Given the description of an element on the screen output the (x, y) to click on. 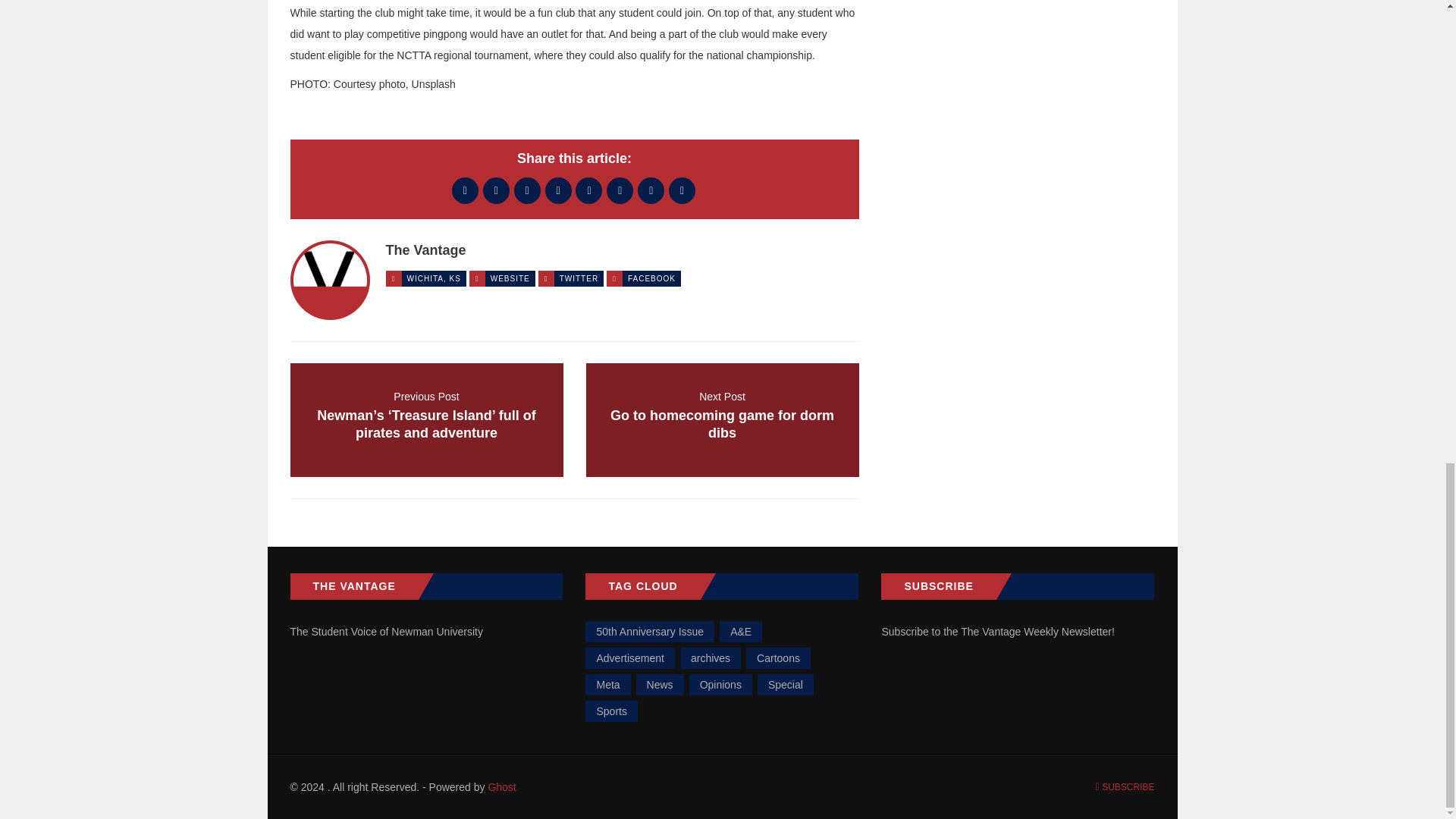
StumbleUpon (681, 190)
50th Anniversary Issue (649, 631)
Digg (558, 190)
Linkedin (620, 190)
Advertisement (629, 658)
FACEBOOK (651, 278)
Reddit (722, 419)
WEBSITE (588, 190)
Google Plus (509, 278)
